Given the description of an element on the screen output the (x, y) to click on. 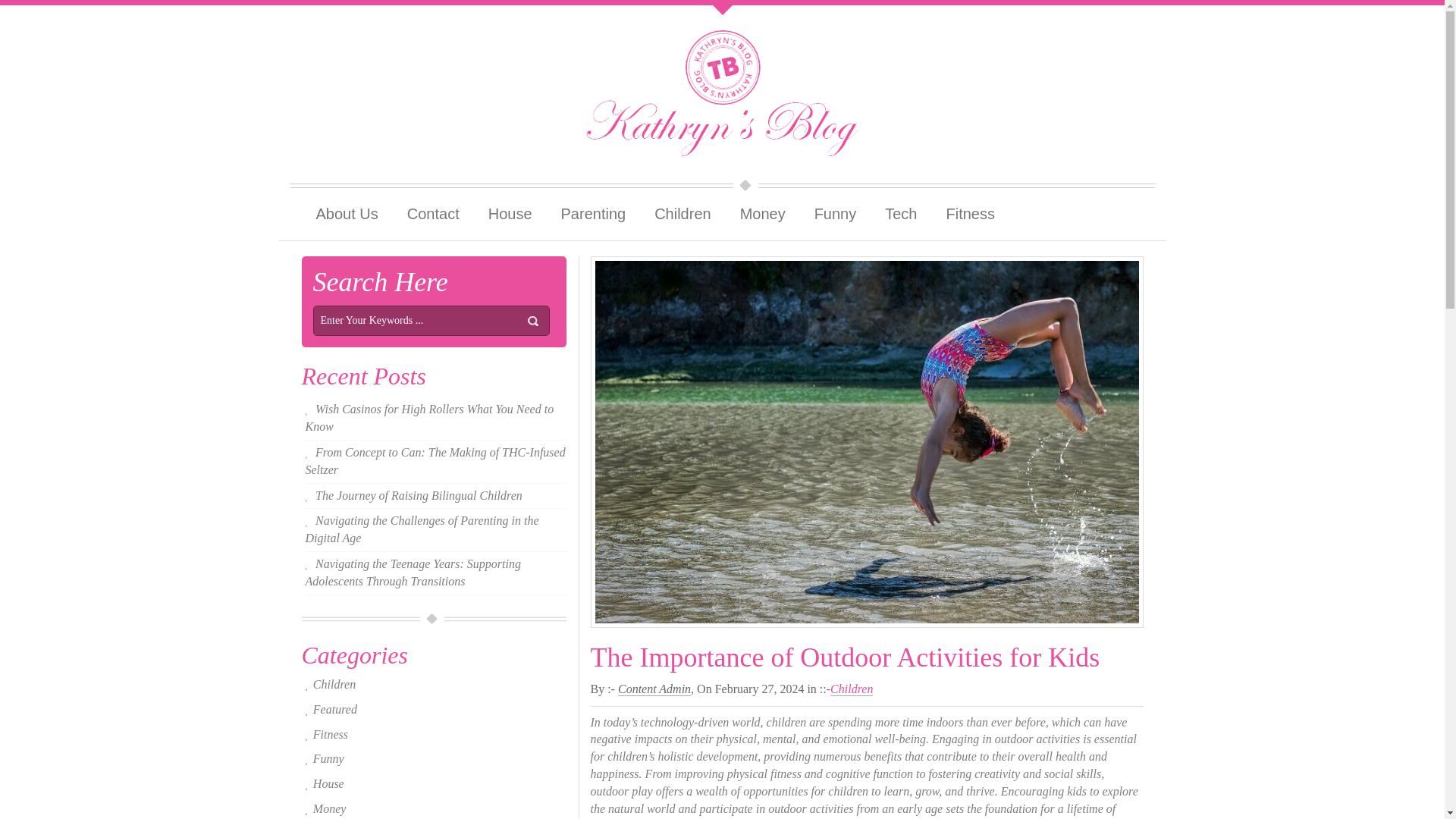
Funny (834, 214)
Fitness (970, 214)
Featured (334, 708)
House (510, 214)
Tech (900, 214)
Kate's Blog about kiddies! (722, 91)
Children (682, 214)
Navigating the Challenges of Parenting in the Digital Age (421, 529)
Contact (433, 214)
The Journey of Raising Bilingual Children (418, 495)
Parenting (593, 214)
Children (334, 684)
Contact (433, 214)
Funny (834, 214)
